Given the description of an element on the screen output the (x, y) to click on. 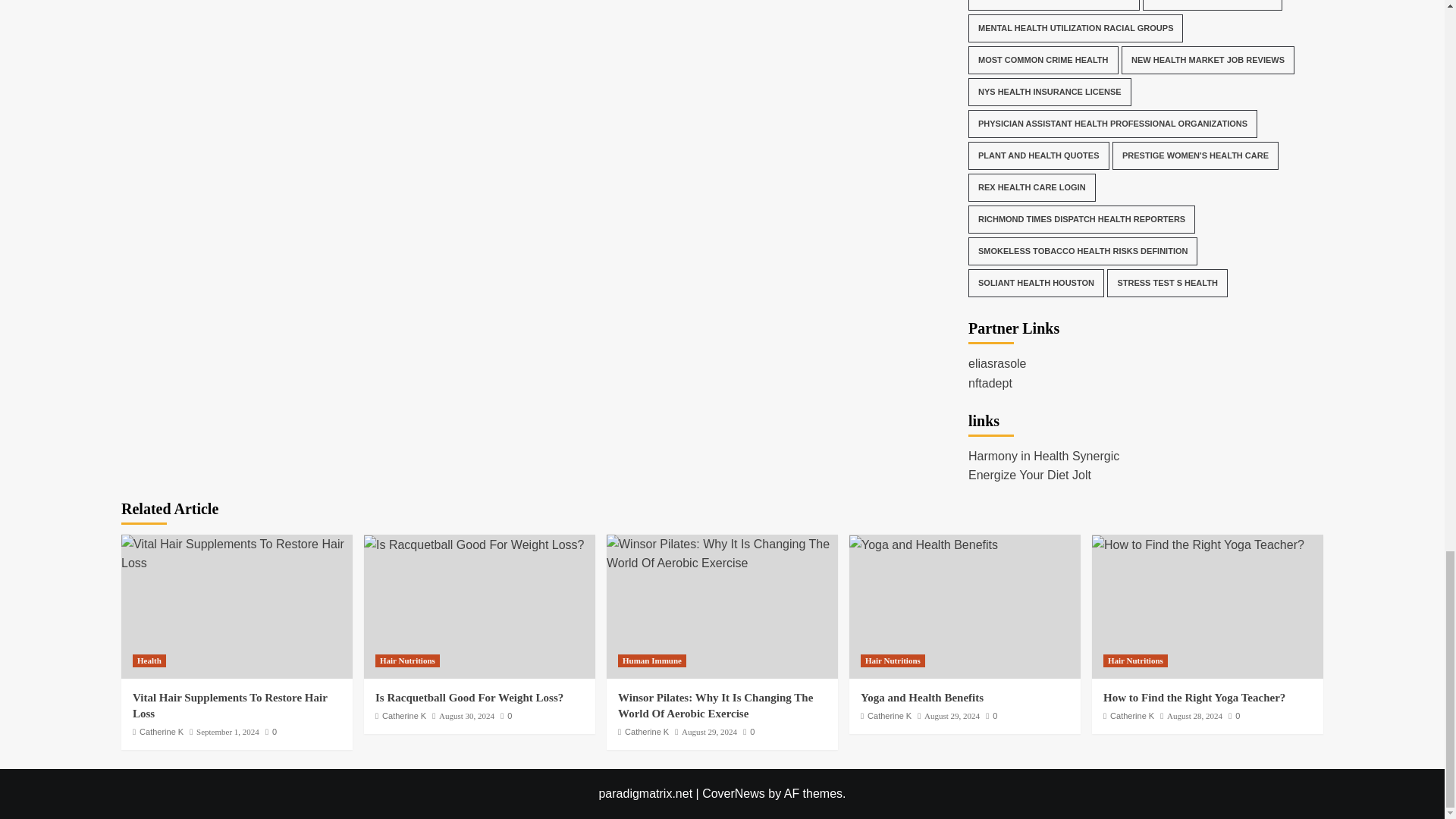
Is Racquetball Good For Weight Loss? (474, 545)
Vital Hair Supplements To Restore Hair Loss (236, 553)
